Given the description of an element on the screen output the (x, y) to click on. 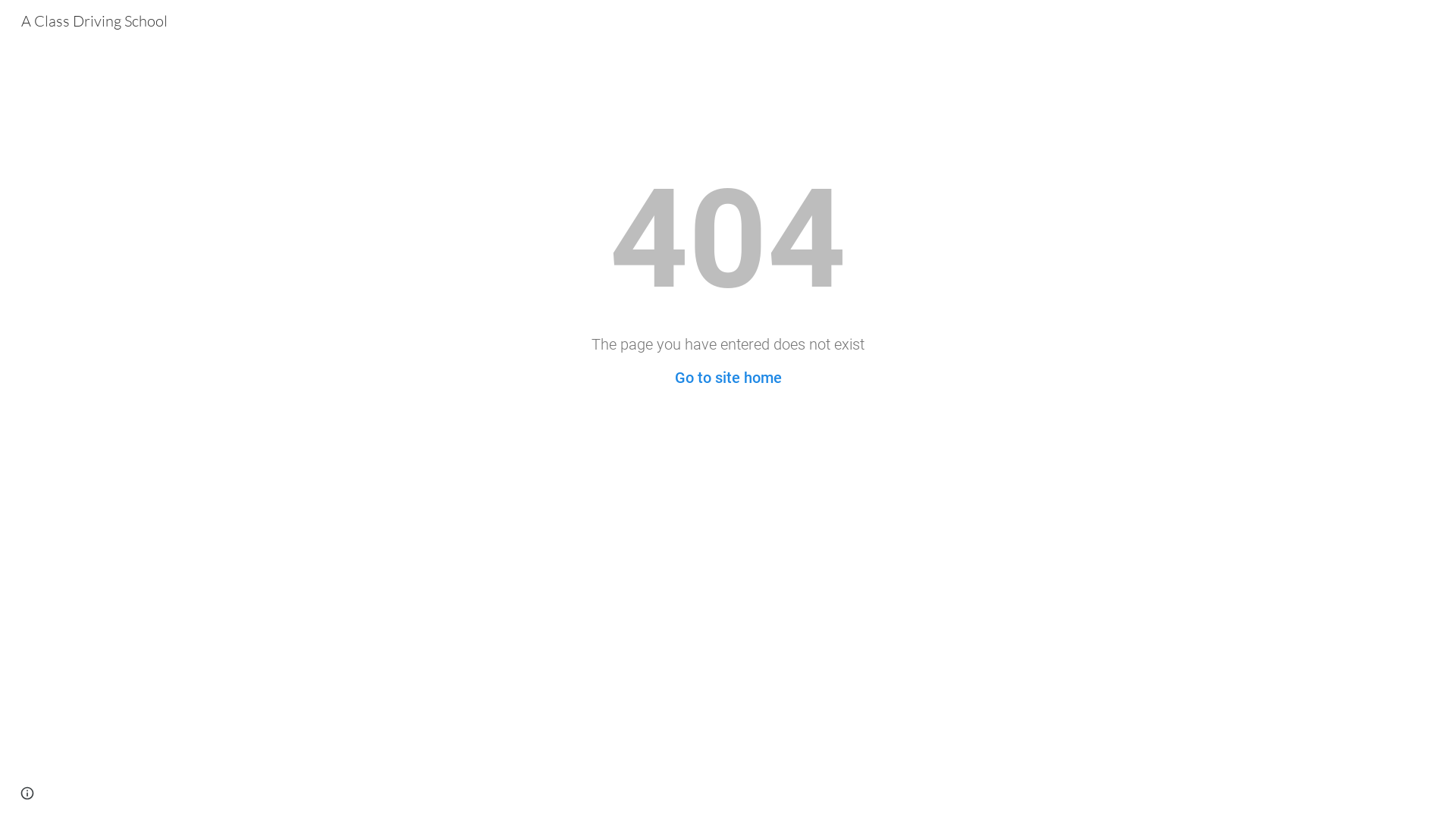
A Class Driving School Element type: text (94, 18)
Go to site home Element type: text (727, 377)
